Given the description of an element on the screen output the (x, y) to click on. 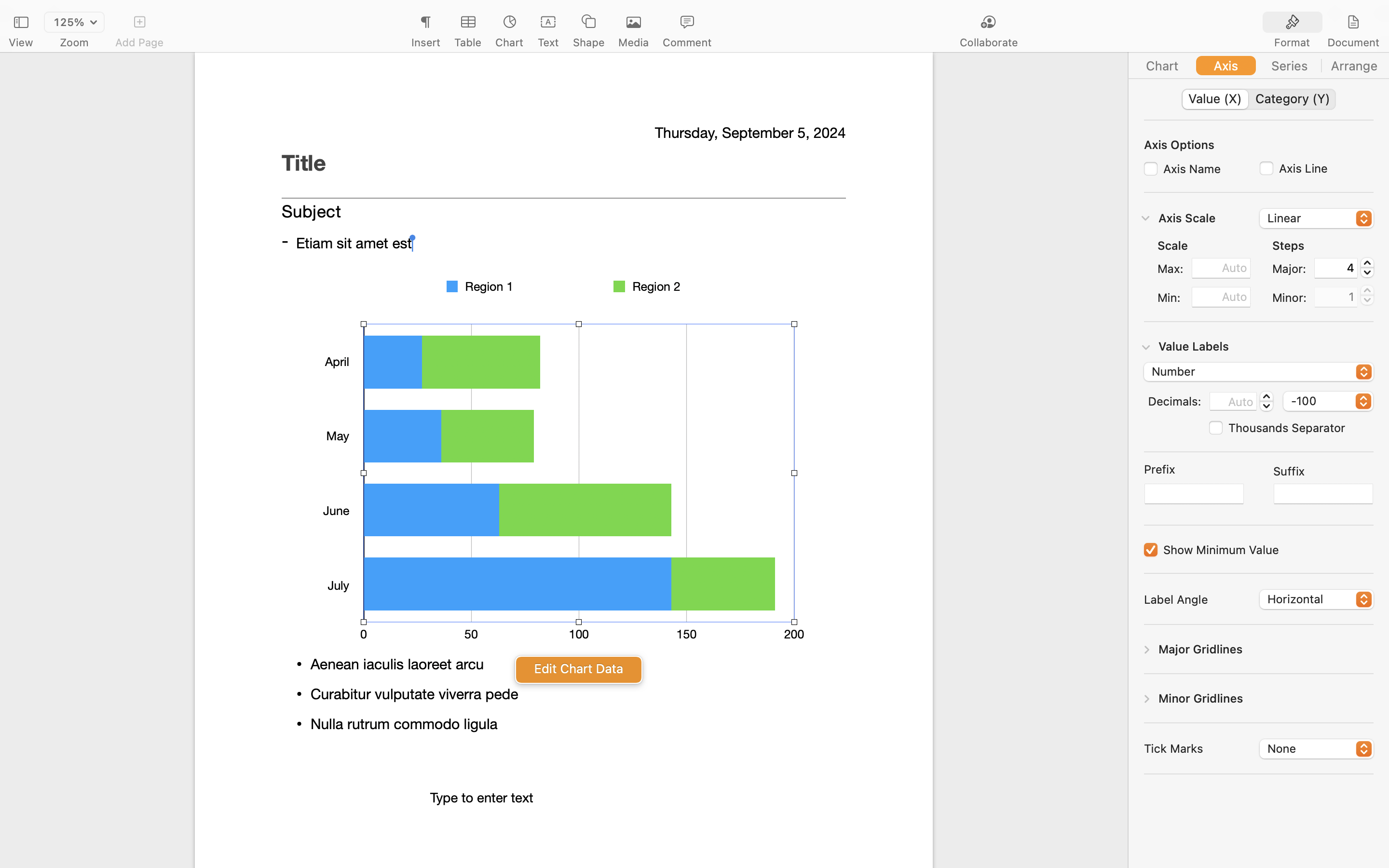
Click to link text boxes together. Element type: AXStaticText (563, 284)
Value Labels Element type: AXStaticText (1193, 345)
<AXUIElement 0x17cd7c730> {pid=1482} Element type: AXRadioGroup (1258, 98)
Suffix Element type: AXStaticText (1289, 470)
Axis Options Element type: AXStaticText (1179, 143)
